Given the description of an element on the screen output the (x, y) to click on. 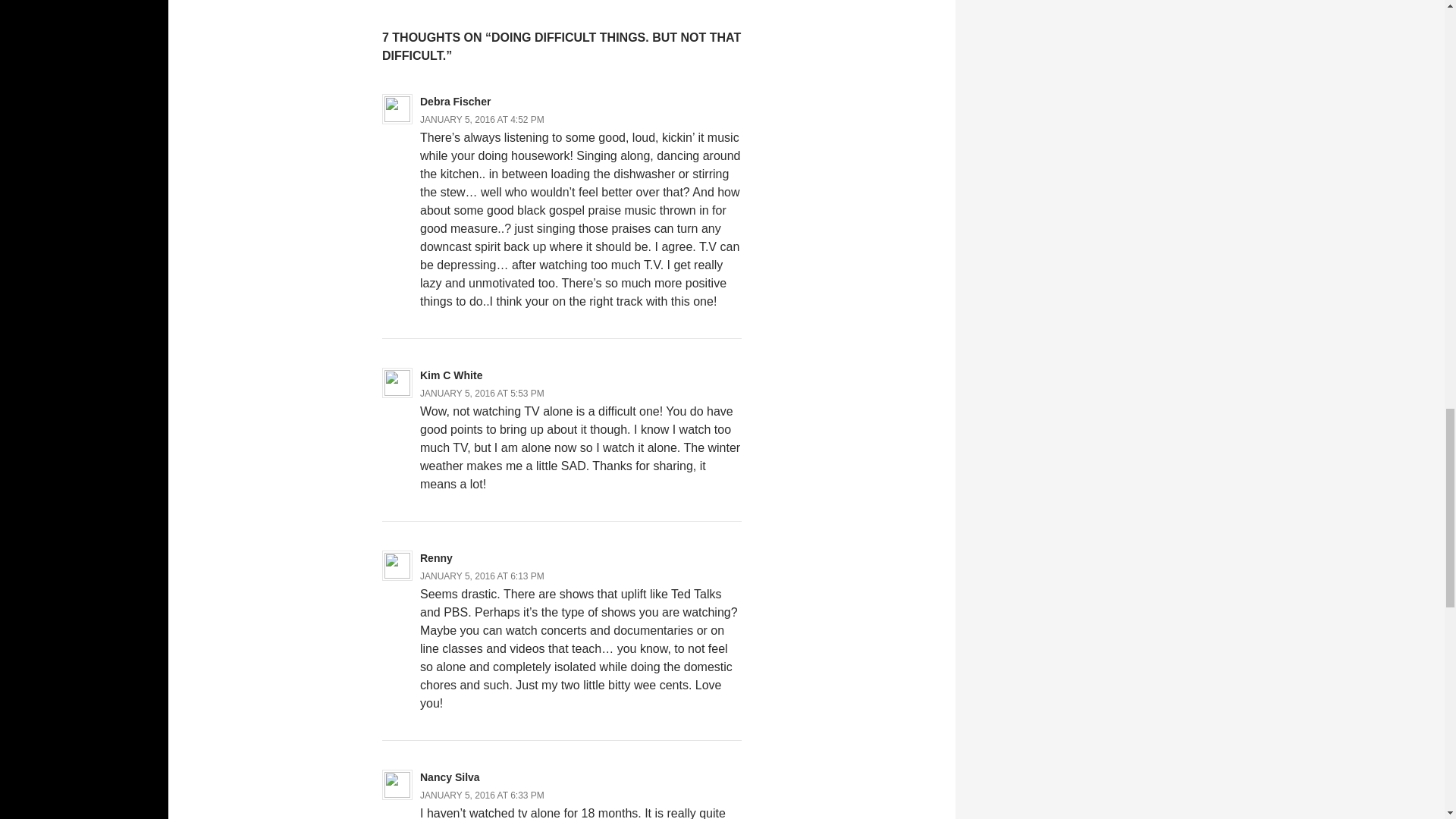
JANUARY 5, 2016 AT 6:13 PM (482, 575)
JANUARY 5, 2016 AT 5:53 PM (482, 393)
JANUARY 5, 2016 AT 6:33 PM (482, 795)
JANUARY 5, 2016 AT 4:52 PM (482, 119)
